Given the description of an element on the screen output the (x, y) to click on. 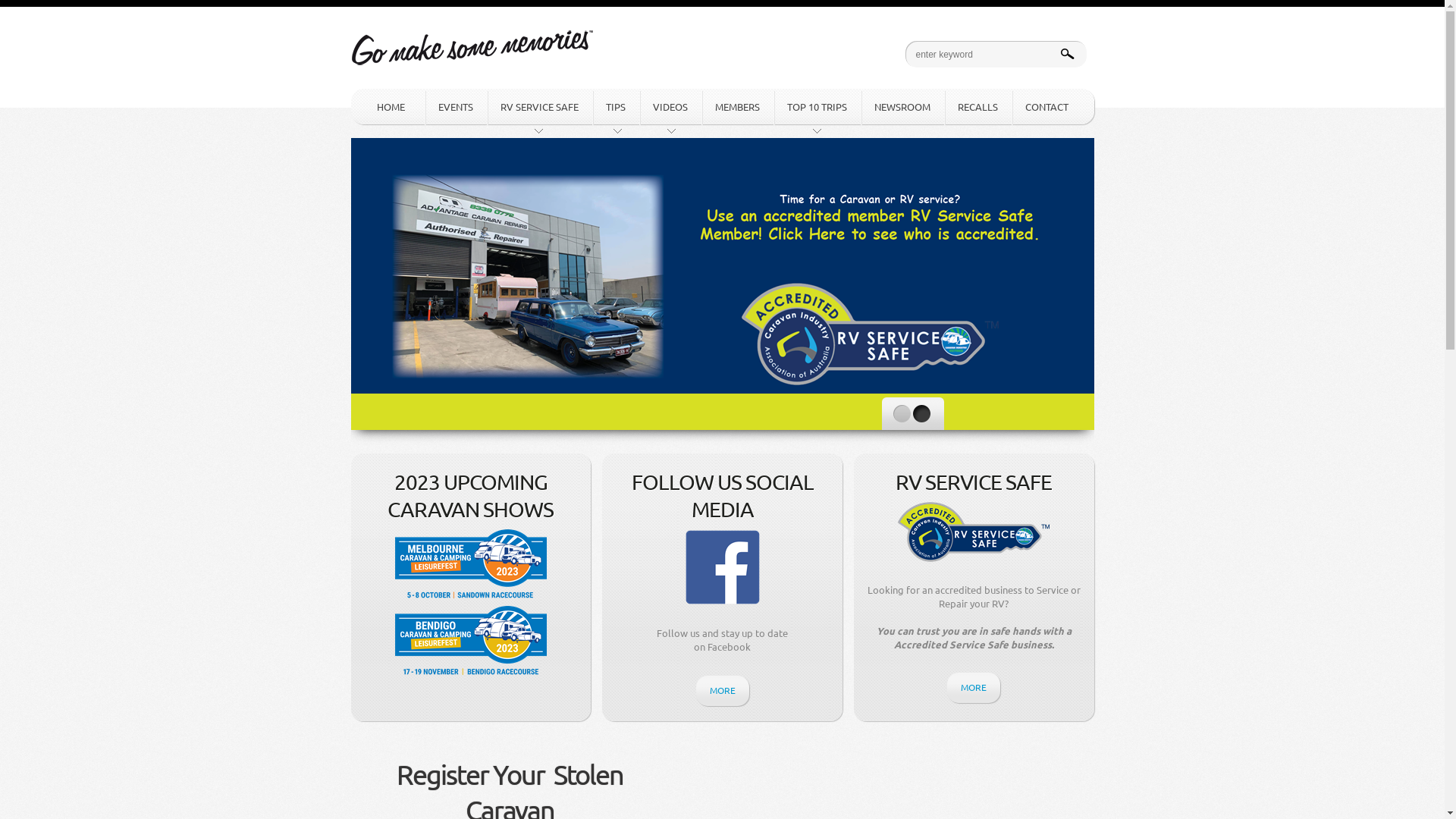
CIV-Melb-Leisurefest-Logo-2023-Dates_PMS-(1).png Element type: hover (470, 564)
VIDEOS
   Element type: text (669, 106)
MORE Element type: text (722, 690)
1200px-F_icon-svg.png Element type: hover (721, 567)
NEWSROOM Element type: text (901, 106)
Search Element type: text (23, 10)
CONTACT Element type: text (1046, 106)
2023 UPCOMING CARAVAN SHOWS Element type: text (471, 496)
2 Element type: text (921, 413)
CIV-Bendigo-Leisurefest-Logo-2023-Dates.png Element type: hover (470, 640)
MEMBERS Element type: text (736, 106)
EVENTS Element type: text (455, 106)
TIPS
   Element type: text (614, 106)
1 Element type: text (901, 413)
RV SERVICE SAFE
   Element type: text (539, 106)
TOP 10 TRIPS
   Element type: text (816, 106)
MORE Element type: text (973, 687)
RECALLS Element type: text (976, 106)
Go Make Some Memories Element type: text (471, 38)
HOME Element type: text (386, 106)
